Given the description of an element on the screen output the (x, y) to click on. 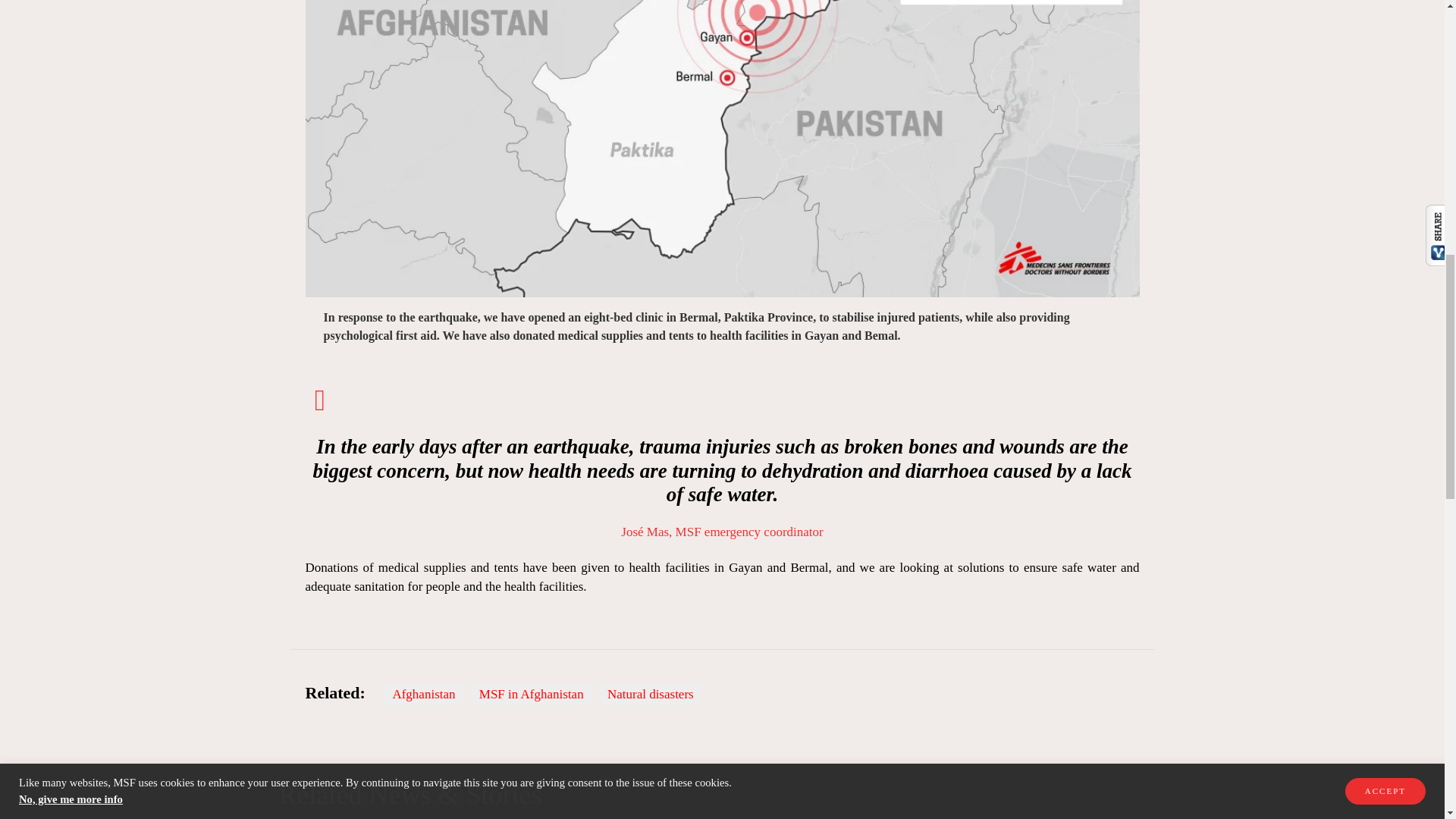
Afghanistan (423, 694)
Natural disasters (650, 694)
MSF in Afghanistan (531, 694)
